Given the description of an element on the screen output the (x, y) to click on. 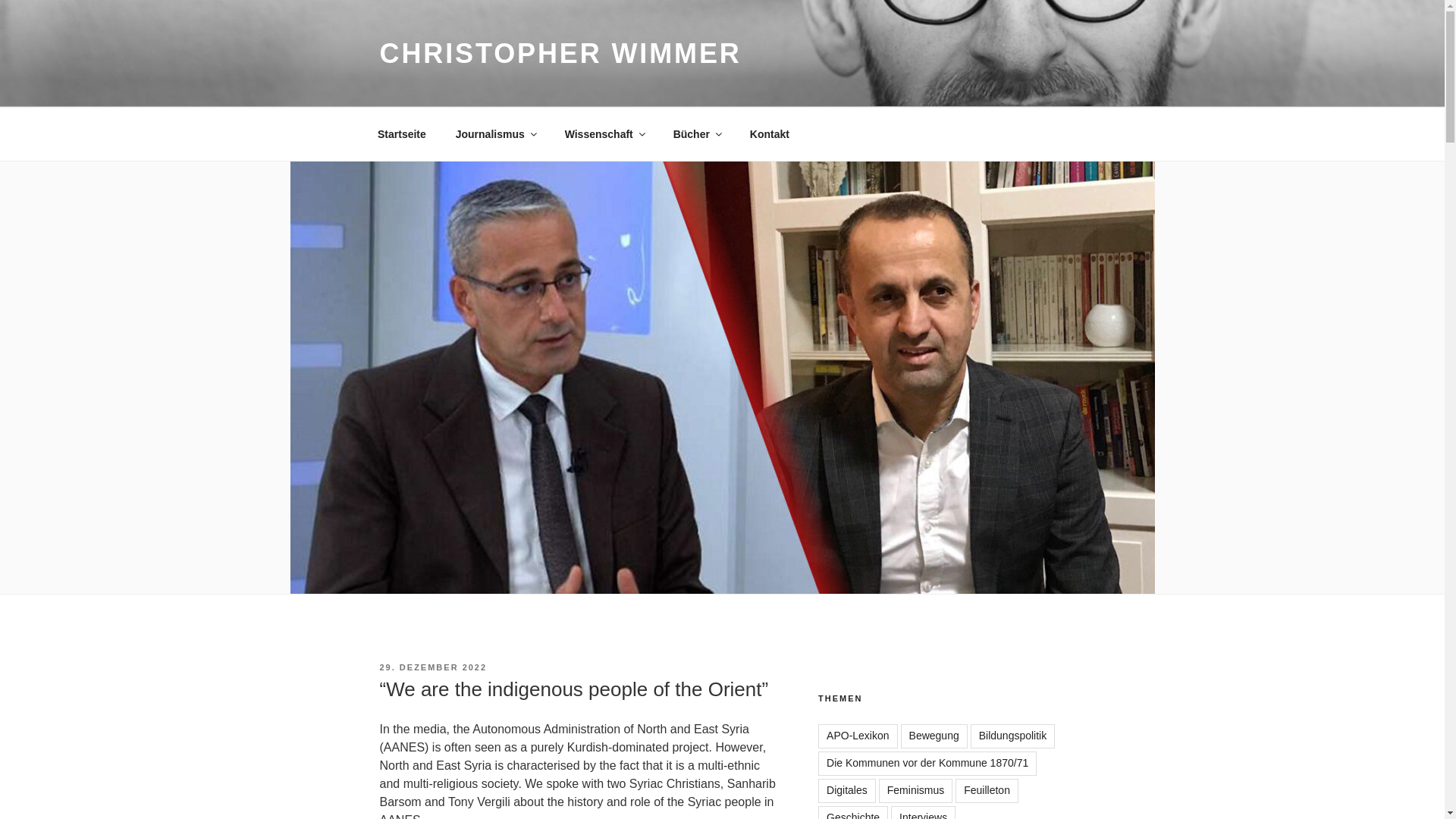
Geschichte (853, 812)
APO-Lexikon (857, 735)
Journalismus (495, 133)
Bewegung (934, 735)
Bildungspolitik (1013, 735)
Interviews (923, 812)
Wissenschaft (603, 133)
Digitales (847, 790)
29. DEZEMBER 2022 (432, 666)
Startseite (401, 133)
Feminismus (915, 790)
Kontakt (769, 133)
CHRISTOPHER WIMMER (559, 52)
Feuilleton (986, 790)
